Given the description of an element on the screen output the (x, y) to click on. 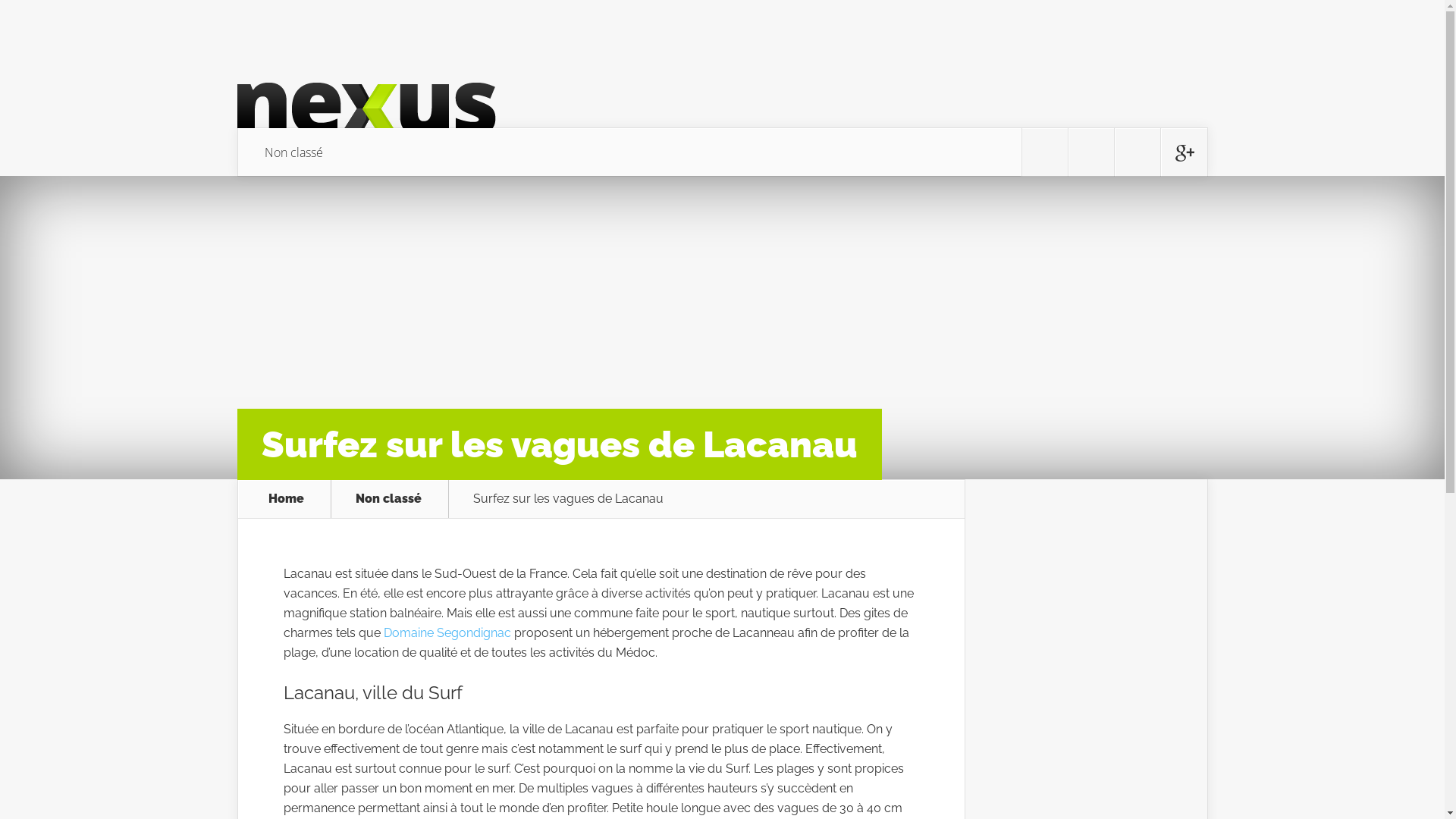
Subscribe To Rss Feed Element type: text (1137, 152)
Home Element type: text (286, 498)
Follow us on Twitter Element type: text (1044, 152)
Follow us on Facebook Element type: text (1090, 152)
Domaine Segondignac Element type: text (447, 632)
Follow Us On Google+ Element type: text (1182, 152)
